Given the description of an element on the screen output the (x, y) to click on. 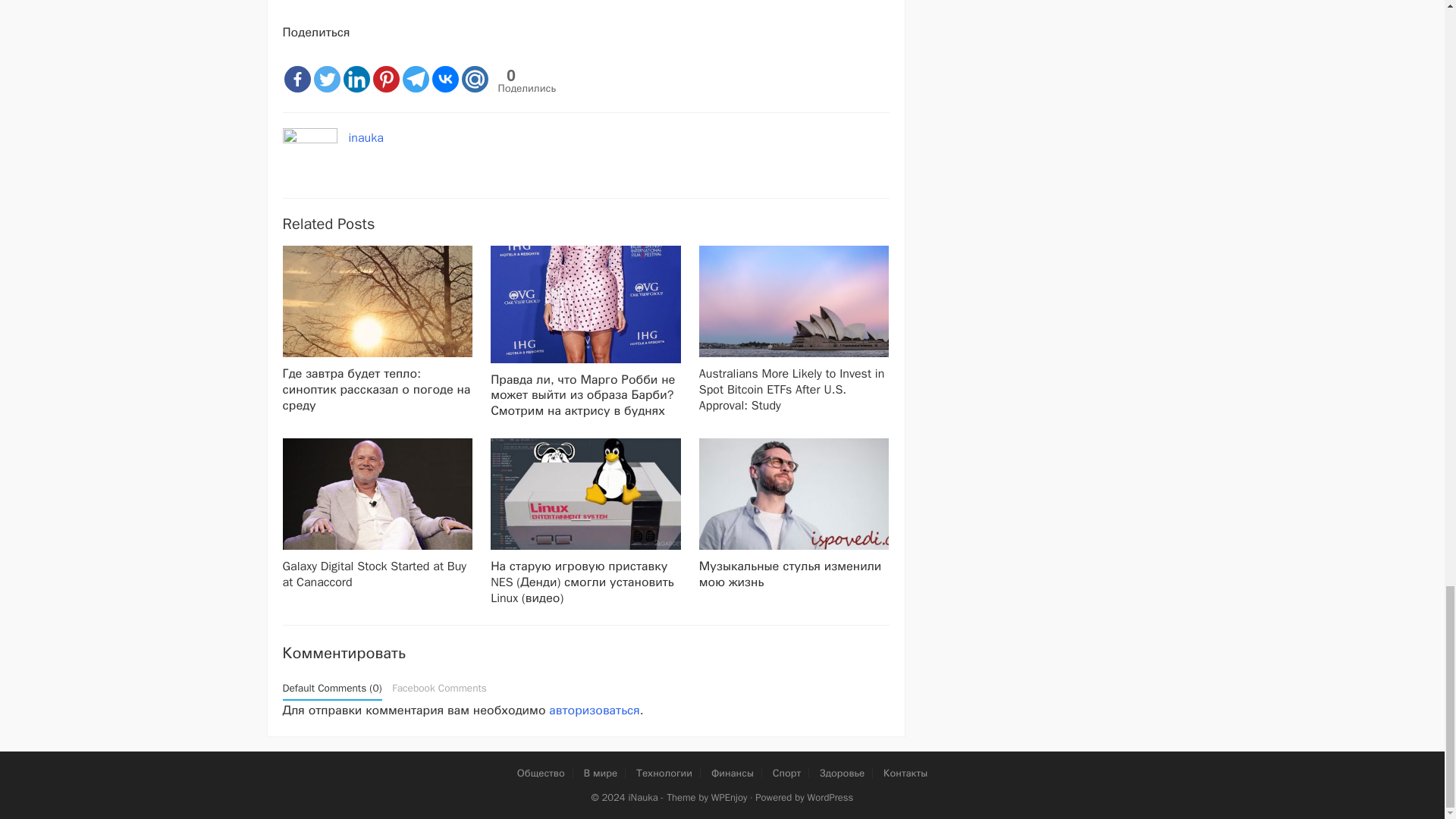
inauka (366, 137)
